Given the description of an element on the screen output the (x, y) to click on. 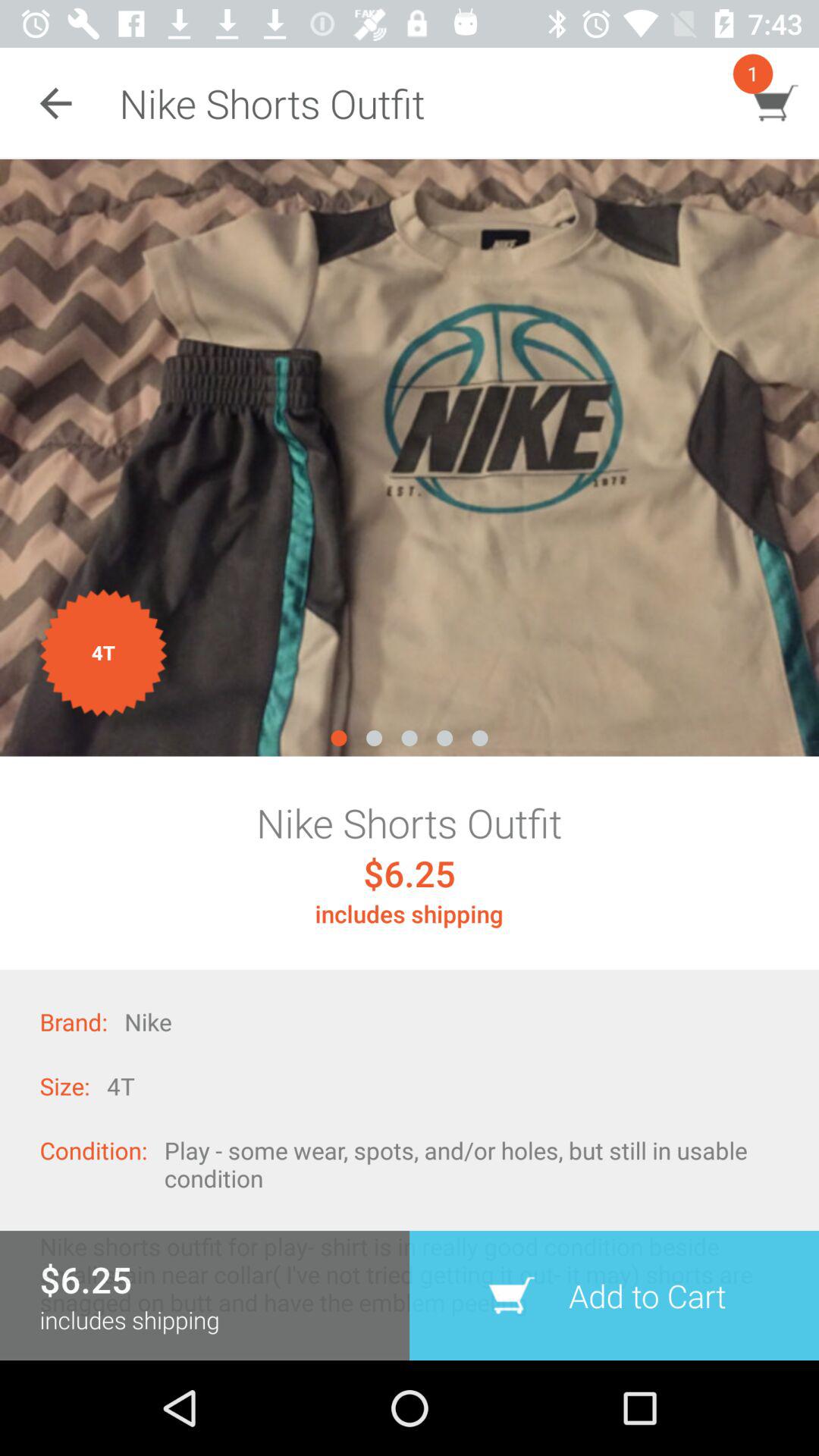
view photo (409, 457)
